Given the description of an element on the screen output the (x, y) to click on. 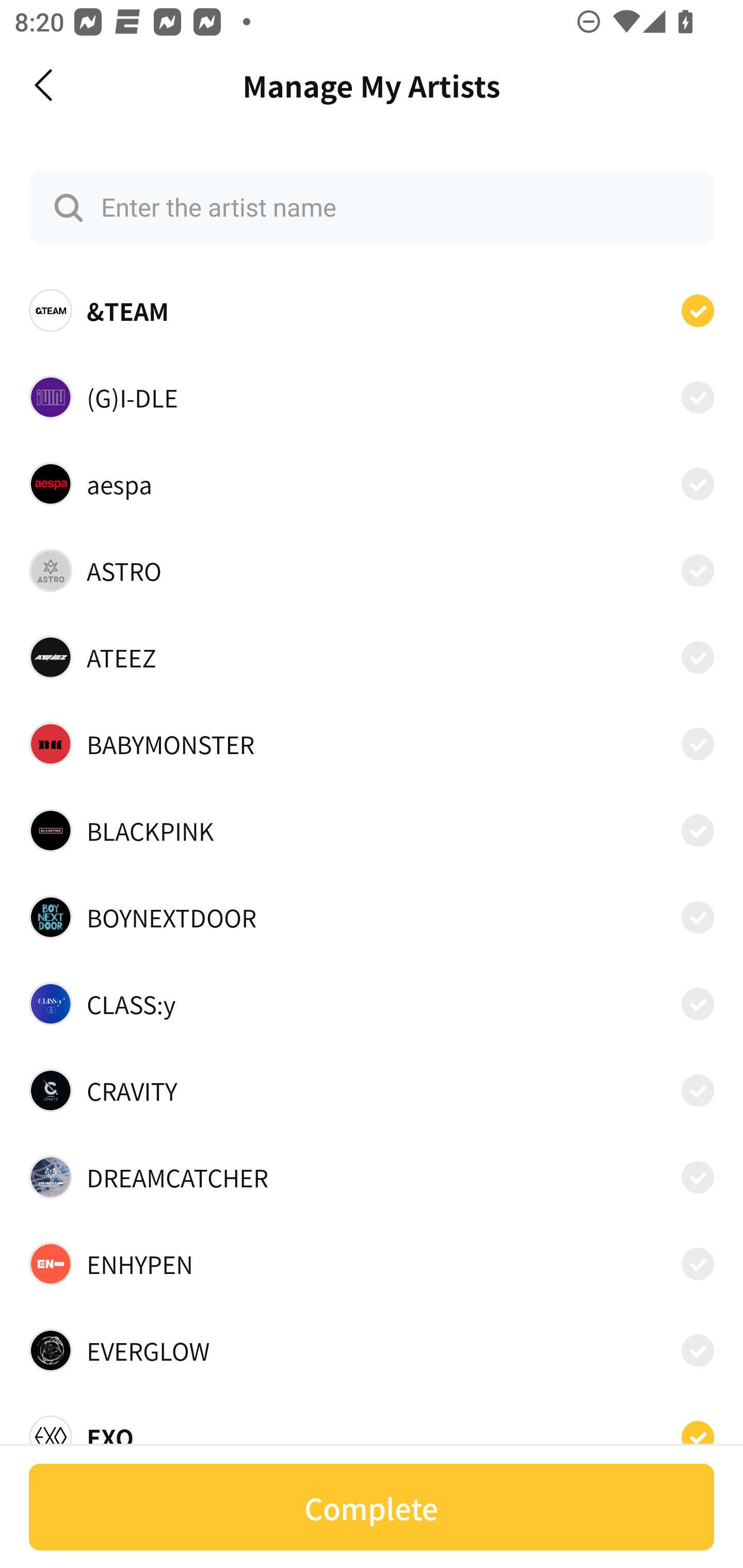
Enter the artist name (371, 207)
&TEAM (371, 310)
(G)I-DLE (371, 396)
aespa (371, 483)
ASTRO (371, 570)
ATEEZ (371, 656)
BABYMONSTER (371, 743)
BLACKPINK (371, 830)
BOYNEXTDOOR (371, 917)
CLASS:y (371, 1003)
CRAVITY (371, 1090)
DREAMCATCHER (371, 1176)
ENHYPEN (371, 1263)
EVERGLOW (371, 1350)
EXO (371, 1430)
Complete (371, 1507)
